Given the description of an element on the screen output the (x, y) to click on. 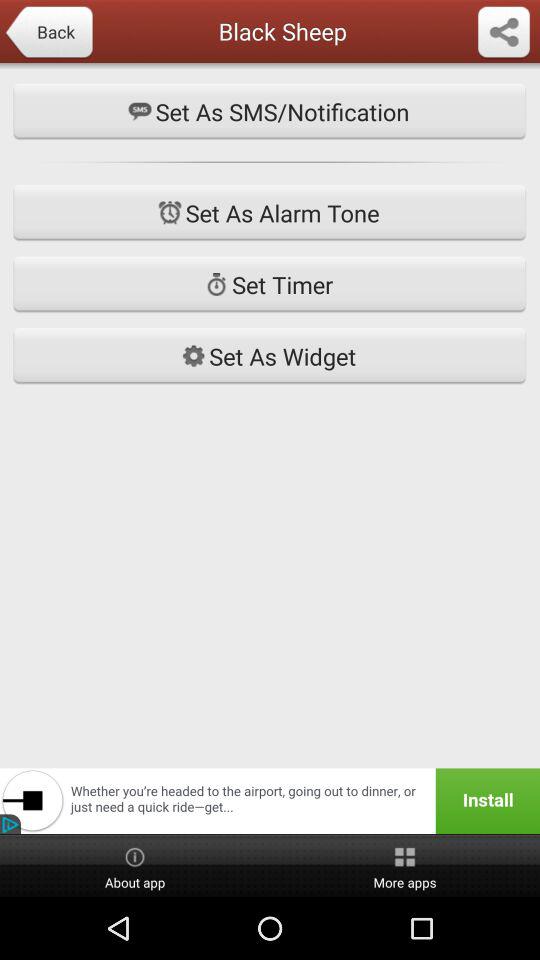
share (503, 33)
